Given the description of an element on the screen output the (x, y) to click on. 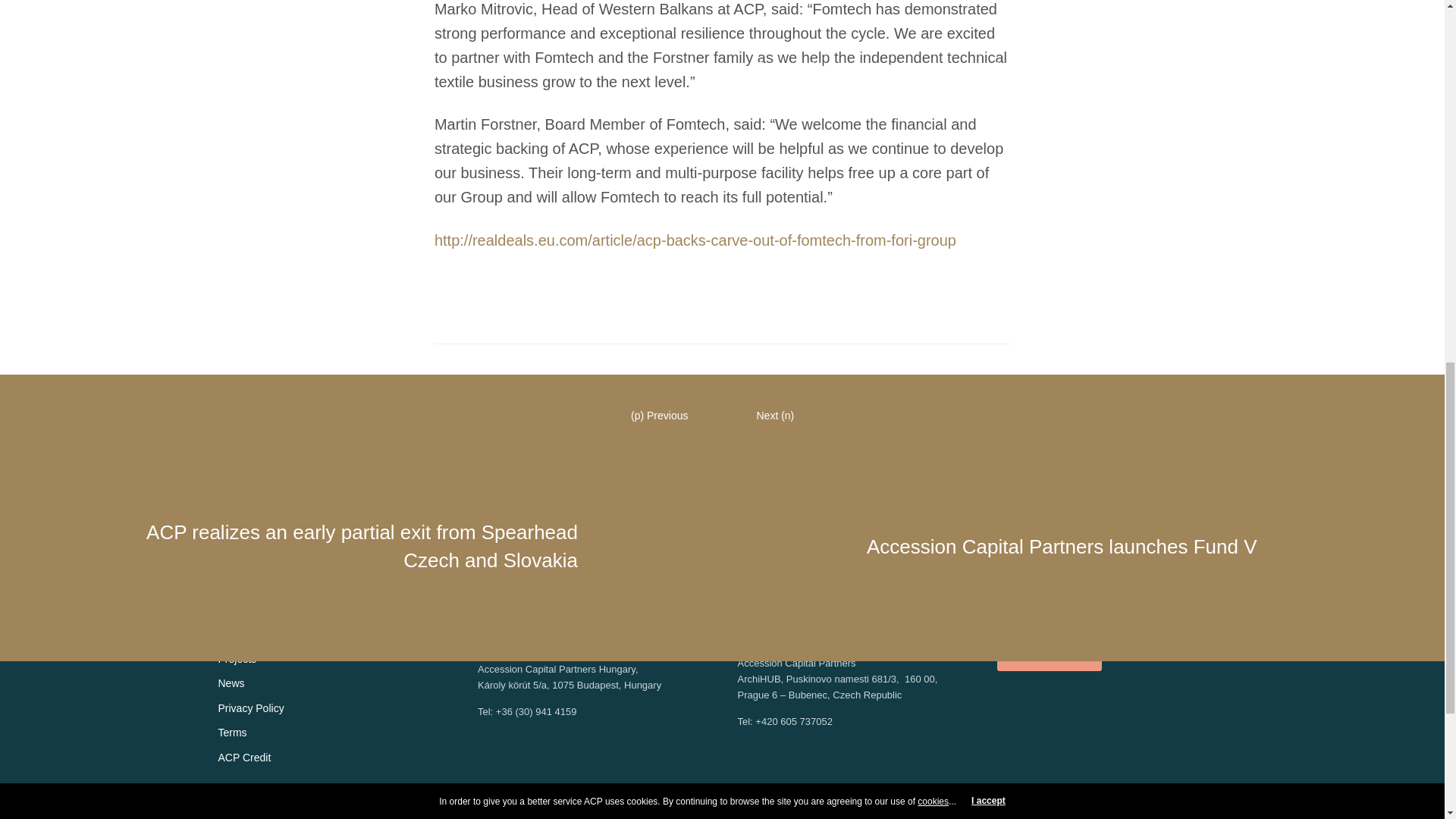
Scroll To Top (1420, 25)
